Given the description of an element on the screen output the (x, y) to click on. 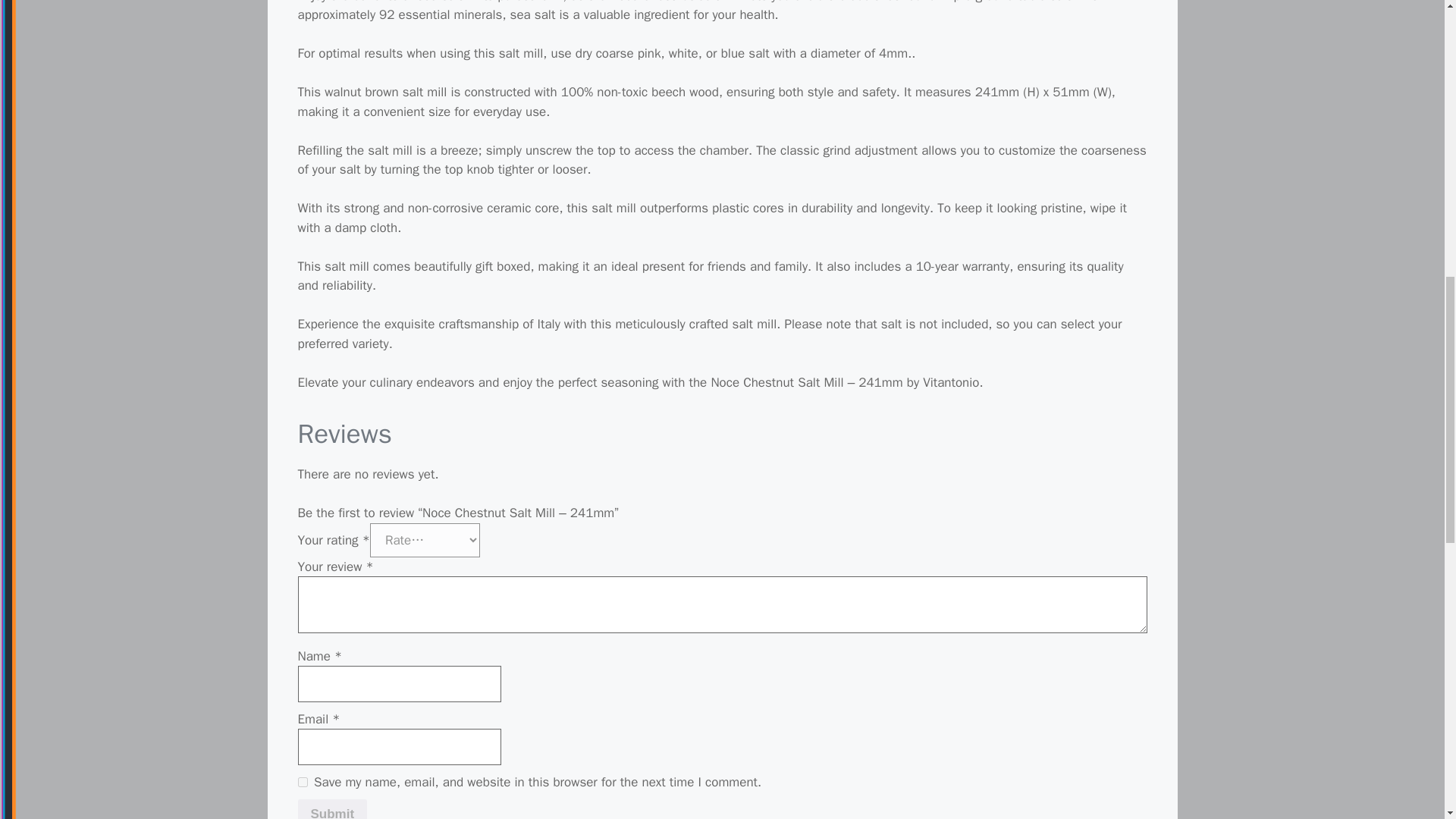
yes (302, 782)
Scroll back to top (1406, 720)
Submit (331, 809)
Submit (331, 809)
